Given the description of an element on the screen output the (x, y) to click on. 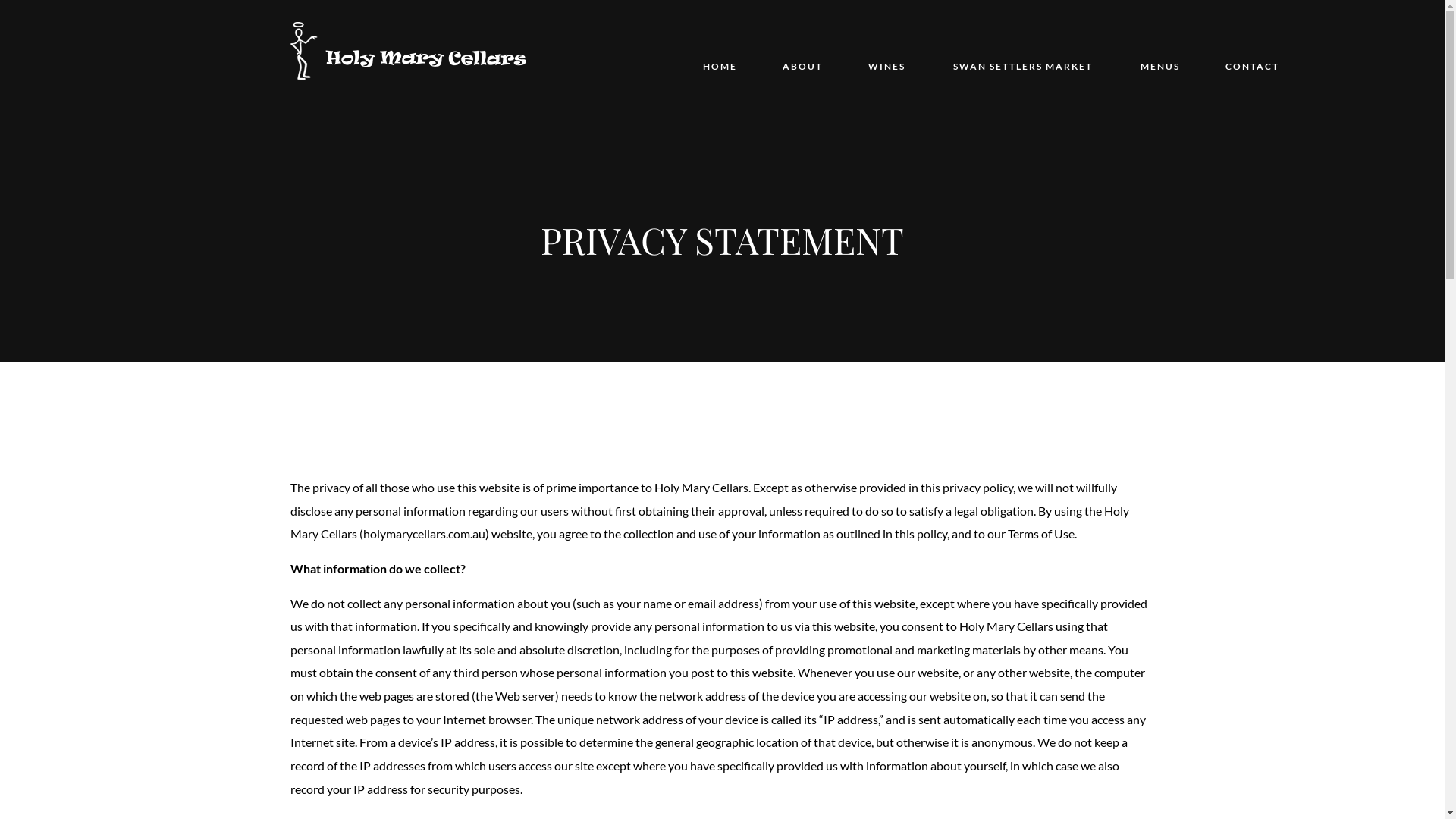
ABOUT Element type: text (802, 52)
WINES Element type: text (885, 52)
HOME Element type: text (719, 52)
CONTACT Element type: text (1252, 52)
SWAN SETTLERS MARKET Element type: text (1022, 52)
Holy Mary Cellars Element type: hover (407, 48)
MENUS Element type: text (1159, 52)
